Given the description of an element on the screen output the (x, y) to click on. 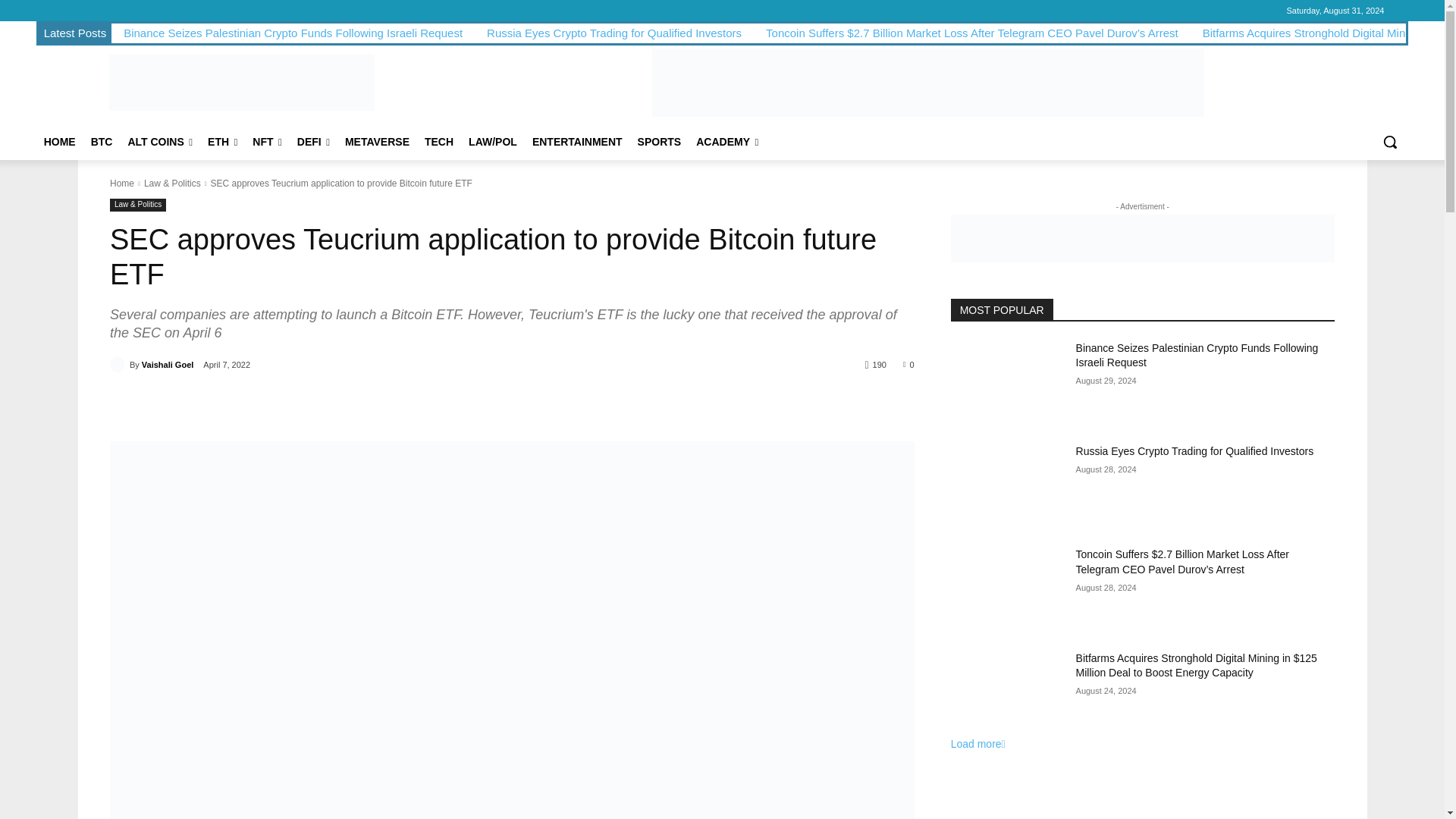
BTC (101, 141)
HOME (59, 141)
ALT COINS (159, 141)
Russia Eyes Crypto Trading for Qualified Investors (613, 32)
